Given the description of an element on the screen output the (x, y) to click on. 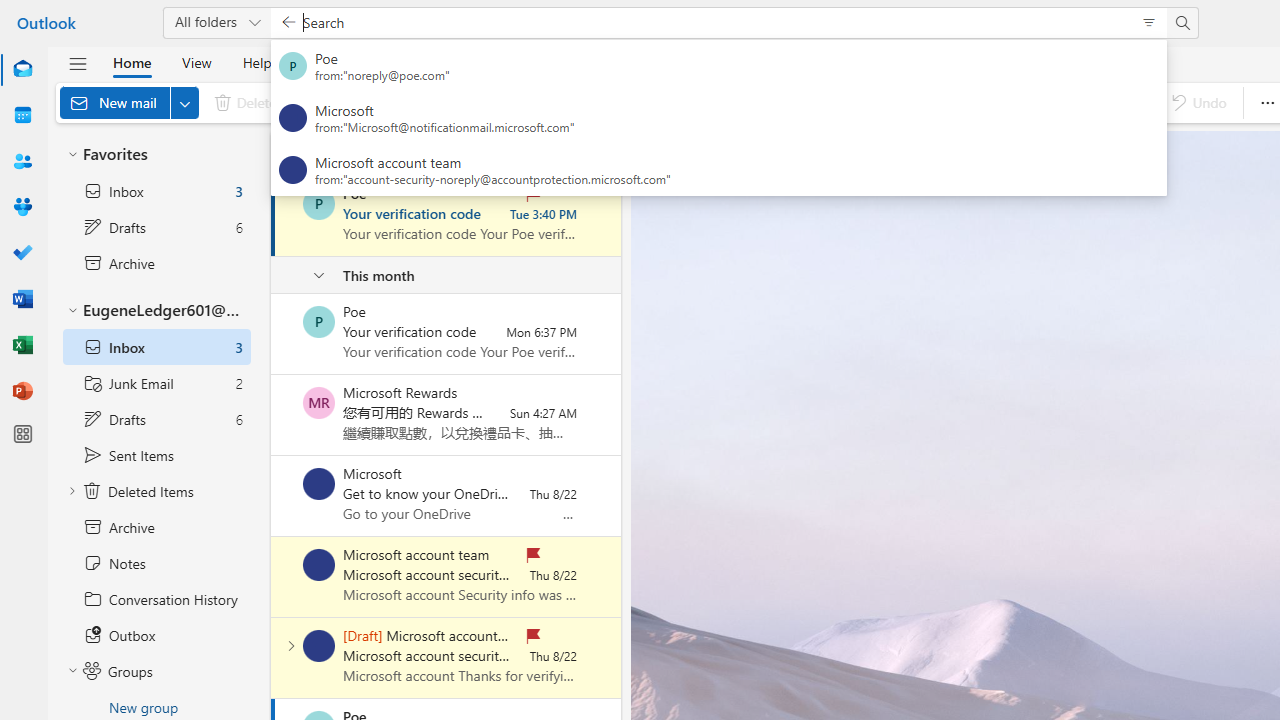
Groups (22, 206)
Mark as read (273, 215)
Calendar (22, 115)
Mail (22, 69)
Mark as unread (273, 657)
Calendar (22, 115)
Report (437, 102)
To Do (22, 252)
Expand to see more New options (184, 102)
Poe (319, 321)
Word (22, 299)
Select (529, 152)
System (10, 11)
Search Scope Selector. (216, 22)
